Given the description of an element on the screen output the (x, y) to click on. 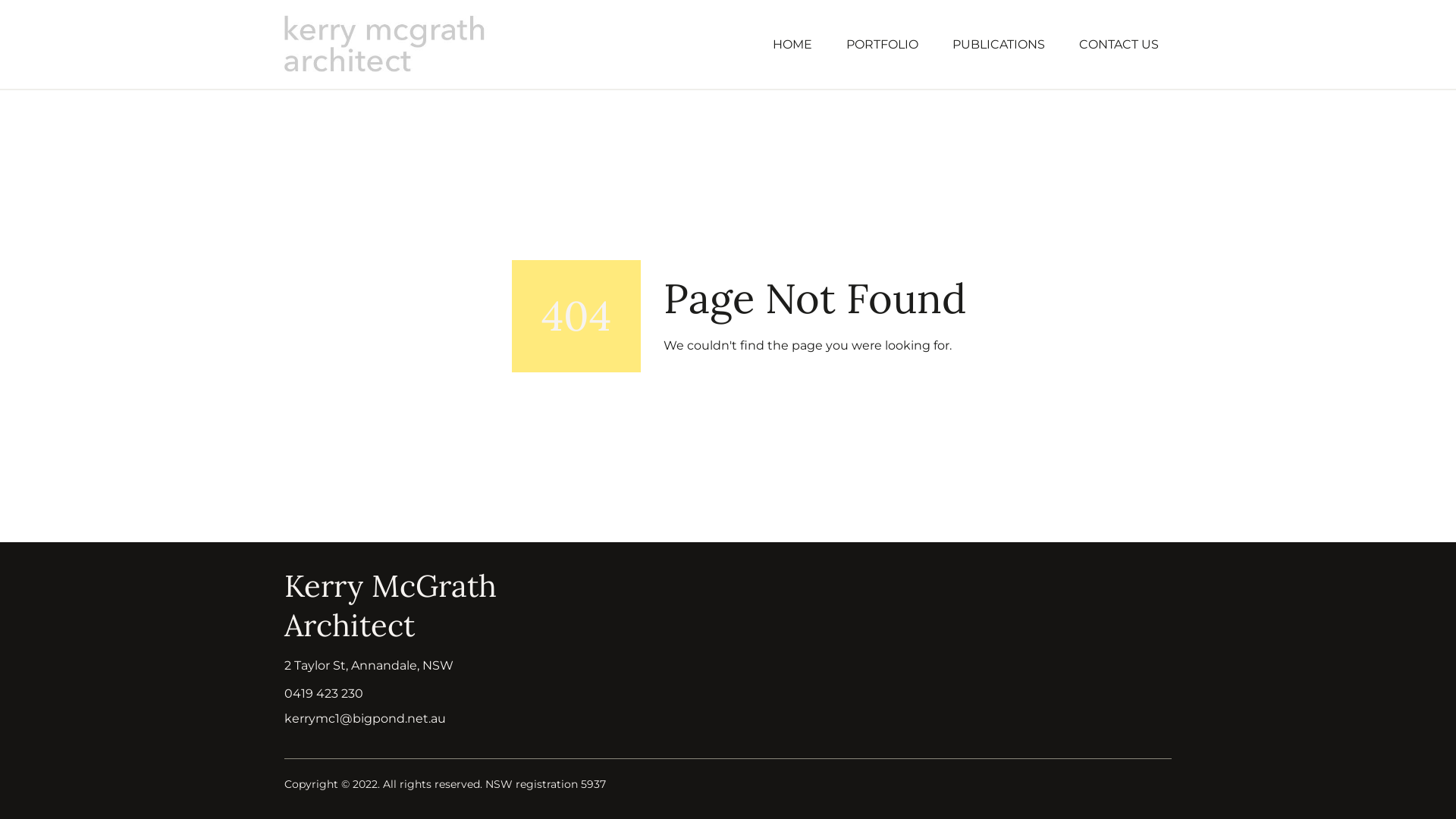
PUBLICATIONS Element type: text (997, 43)
CONTACT US Element type: text (1118, 43)
HOME Element type: text (792, 43)
PORTFOLIO Element type: text (881, 43)
kerrymc1@bigpond.net.au Element type: text (364, 718)
0419 423 230 Element type: text (323, 693)
